Given the description of an element on the screen output the (x, y) to click on. 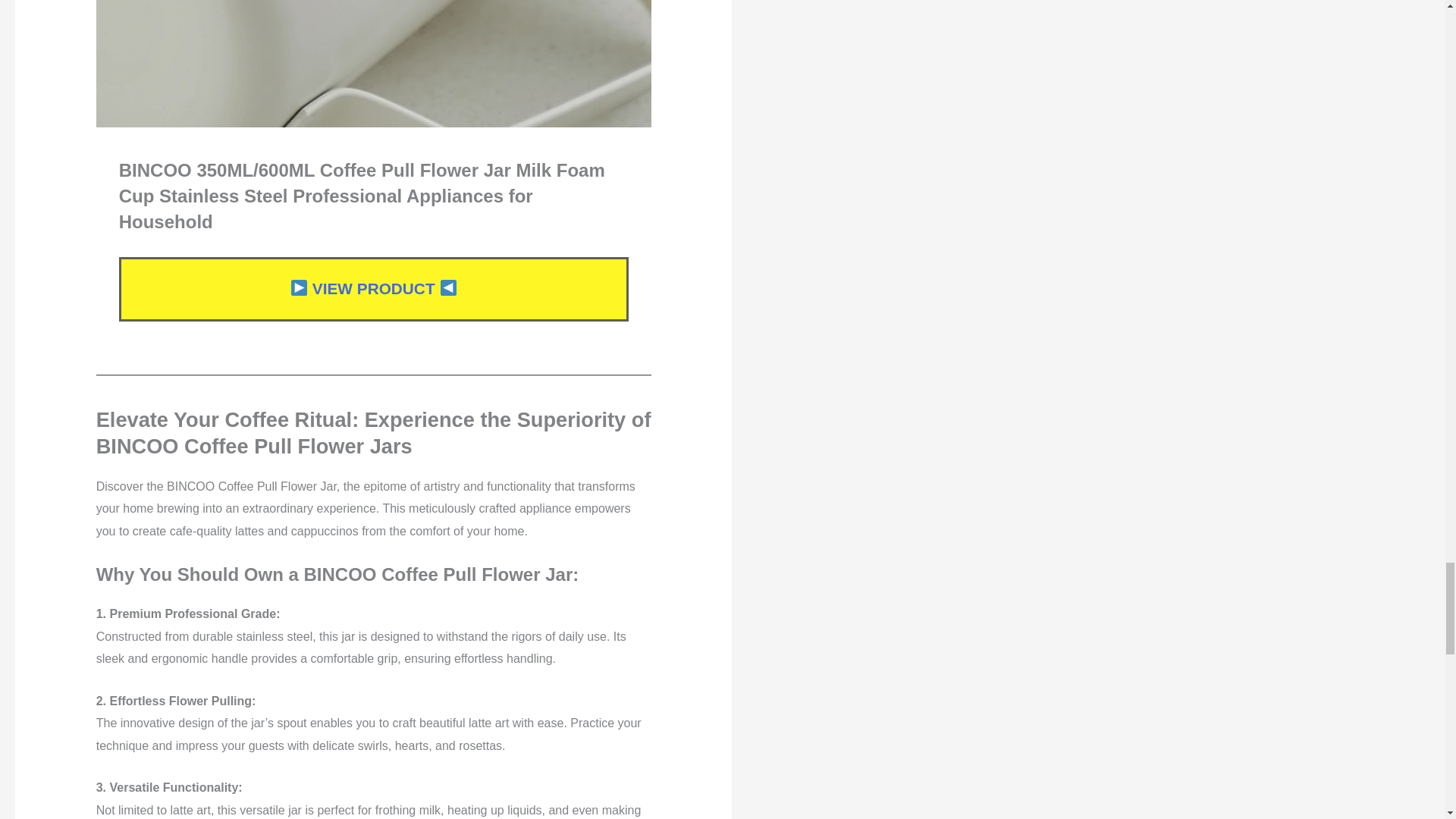
VIEW PRODUCT (373, 288)
